Given the description of an element on the screen output the (x, y) to click on. 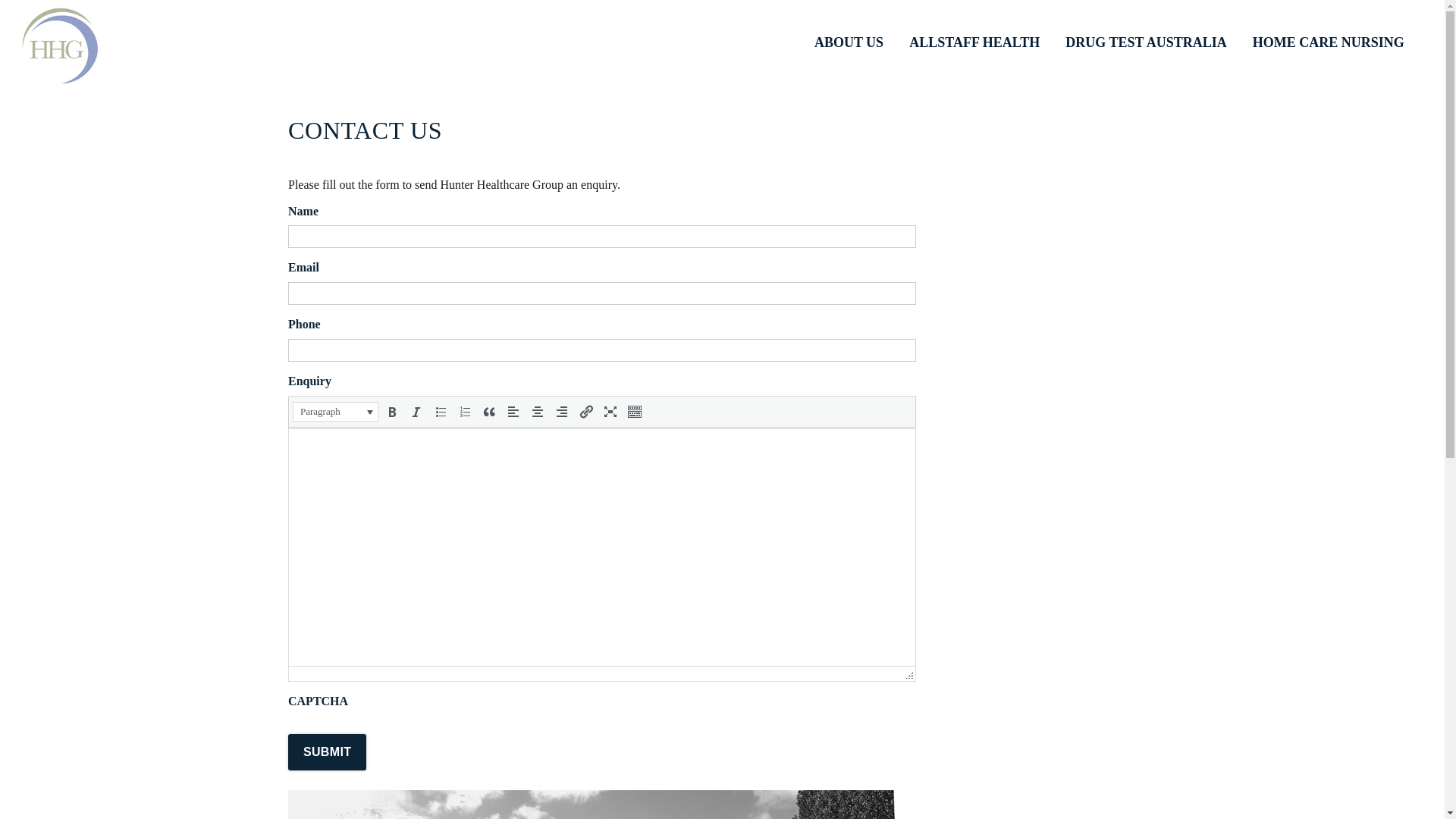
Paragraph Element type: text (335, 411)
ABOUT US Element type: text (848, 42)
HOME CARE NURSING Element type: text (1328, 42)
Submit Element type: text (327, 752)
ALLSTAFF HEALTH Element type: text (974, 42)
Rich Text Area. Press Alt-Shift-H for help. Element type: hover (601, 546)
DRUG TEST AUSTRALIA Element type: text (1145, 42)
